Given the description of an element on the screen output the (x, y) to click on. 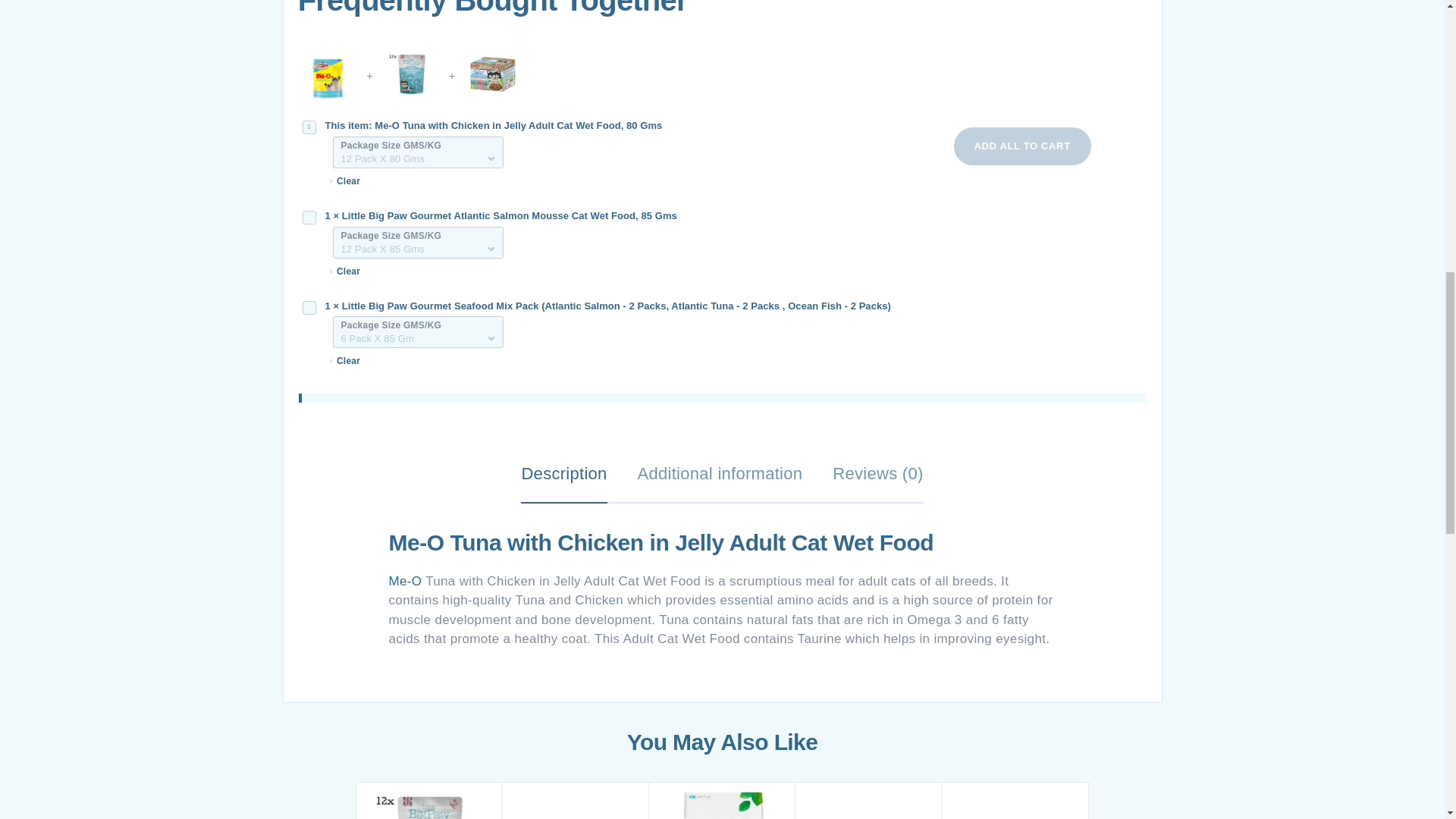
5013 (308, 307)
on (308, 127)
4990 (308, 217)
